Given the description of an element on the screen output the (x, y) to click on. 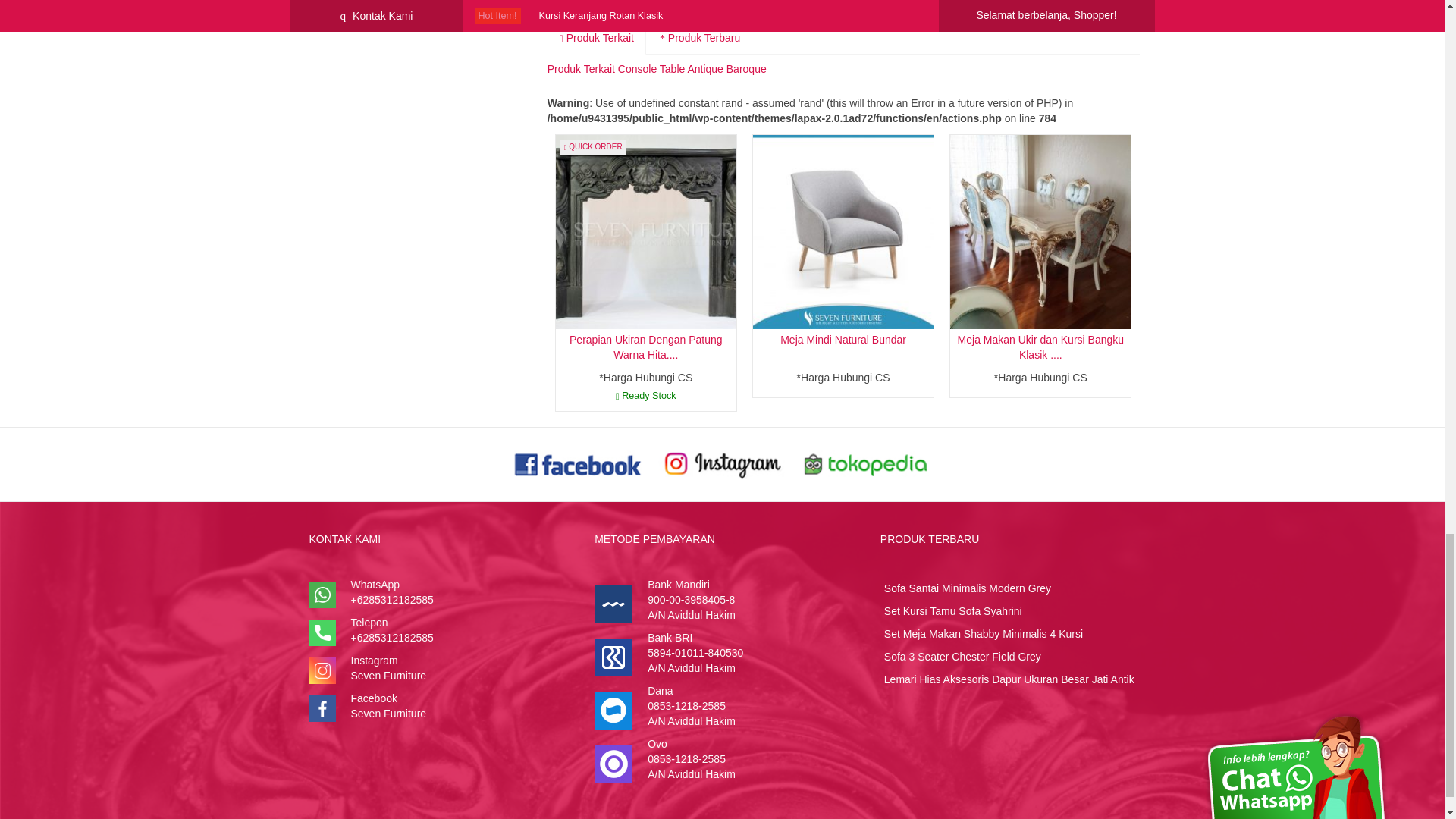
Meja Makan Ukir dan Kursi Bangku Klasik Mewah Shabby (1040, 231)
Perapian Ukiran Dengan Patung Warna Hitam (646, 231)
Meja Mindi Natural Bundar (842, 339)
Meja Mindi Natural Bundar (842, 231)
Perapian Ukiran Dengan Patung Warna Hitam (645, 347)
